Given the description of an element on the screen output the (x, y) to click on. 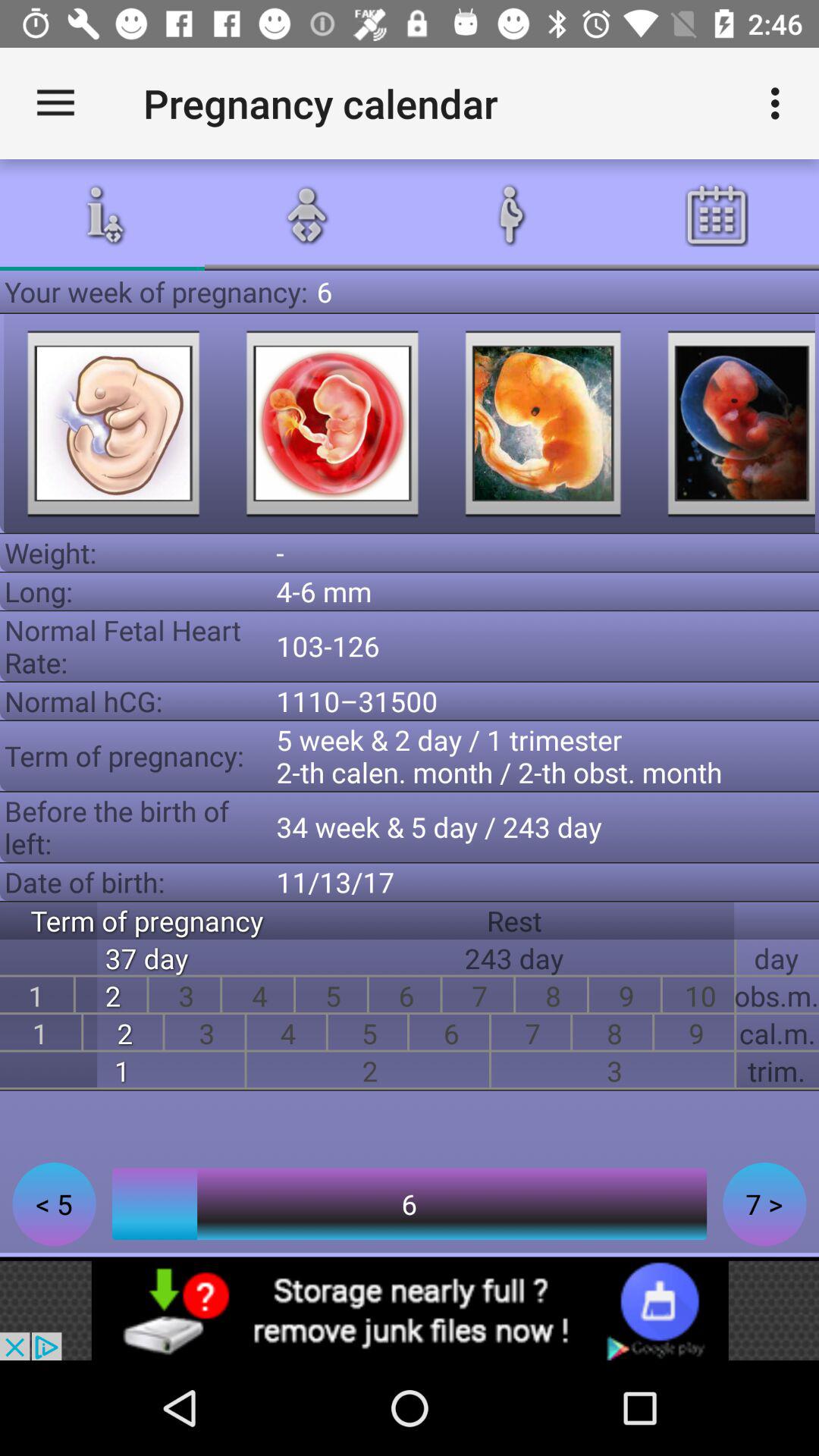
download option (409, 1310)
